Given the description of an element on the screen output the (x, y) to click on. 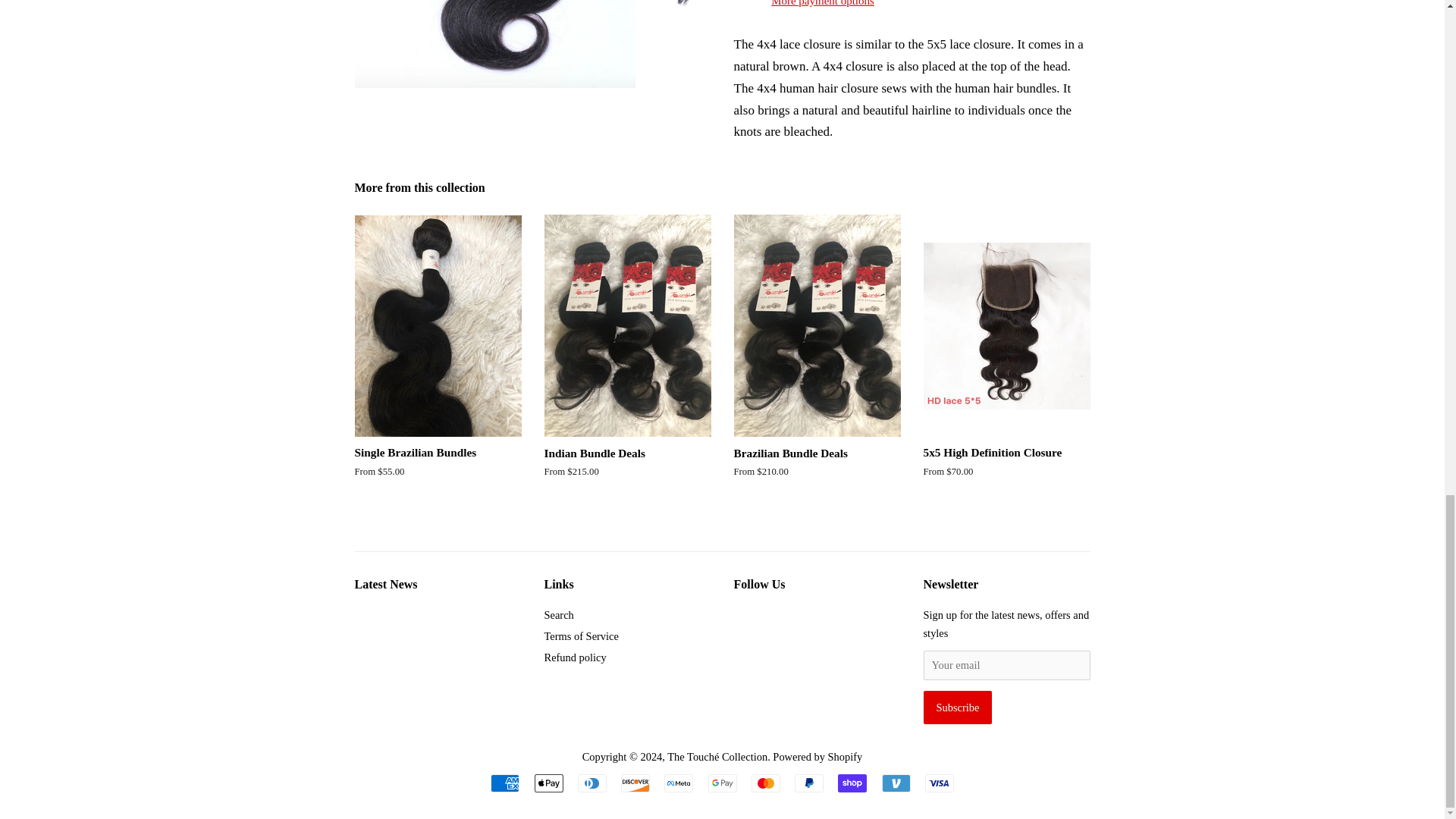
Refund policy (575, 657)
Search (558, 614)
Subscribe (957, 707)
Apple Pay (548, 782)
Shop Pay (852, 782)
Terms of Service (581, 635)
Latest News (386, 584)
Meta Pay (678, 782)
Discover (635, 782)
Powered by Shopify (817, 756)
Venmo (895, 782)
Visa (938, 782)
PayPal (809, 782)
Subscribe (957, 707)
Google Pay (721, 782)
